Given the description of an element on the screen output the (x, y) to click on. 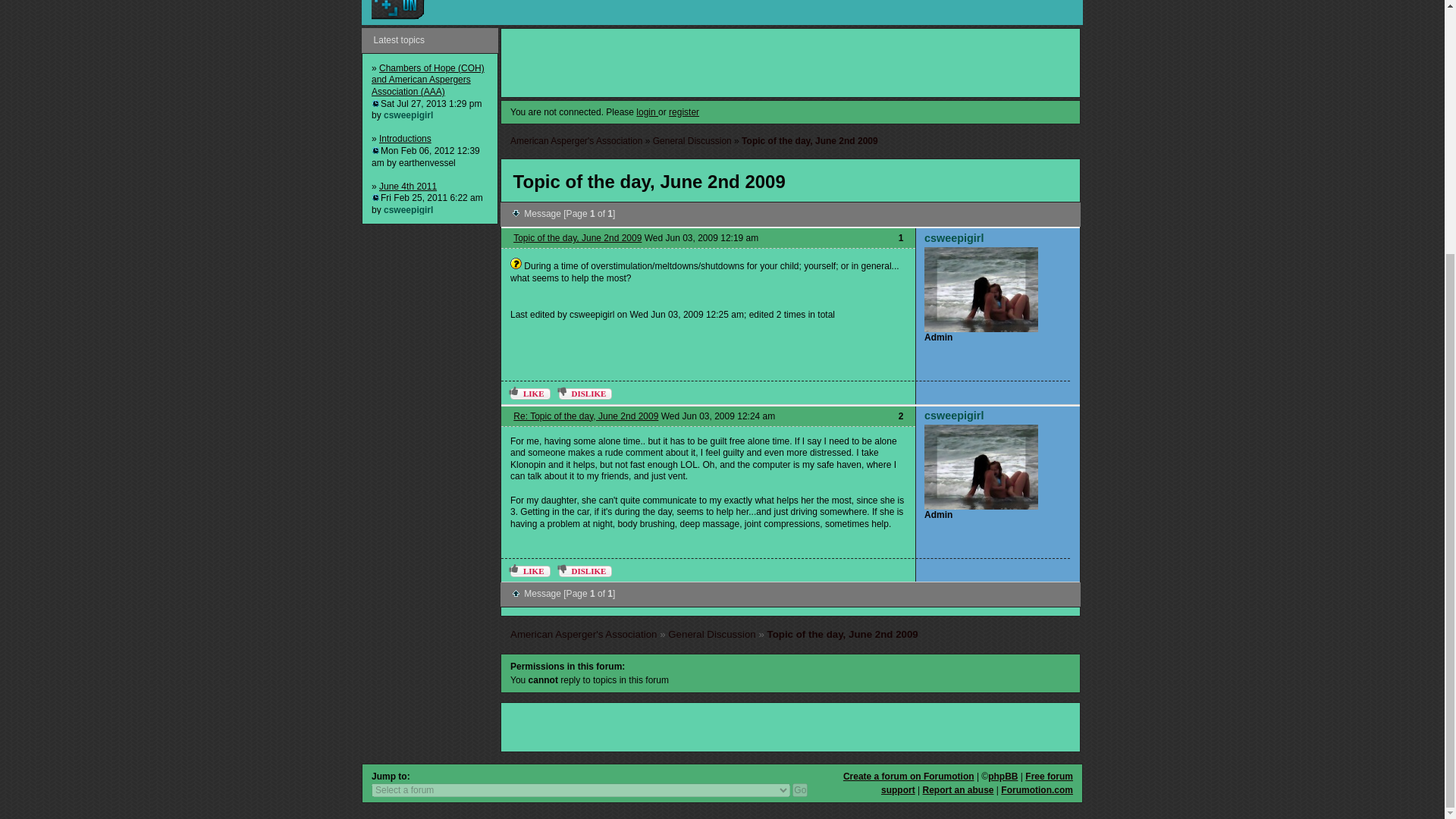
Introductions (404, 138)
Log in (398, 9)
Introductions (404, 138)
June 4th 2011 (407, 185)
June 4th 2011 (407, 185)
Go (800, 789)
